Given the description of an element on the screen output the (x, y) to click on. 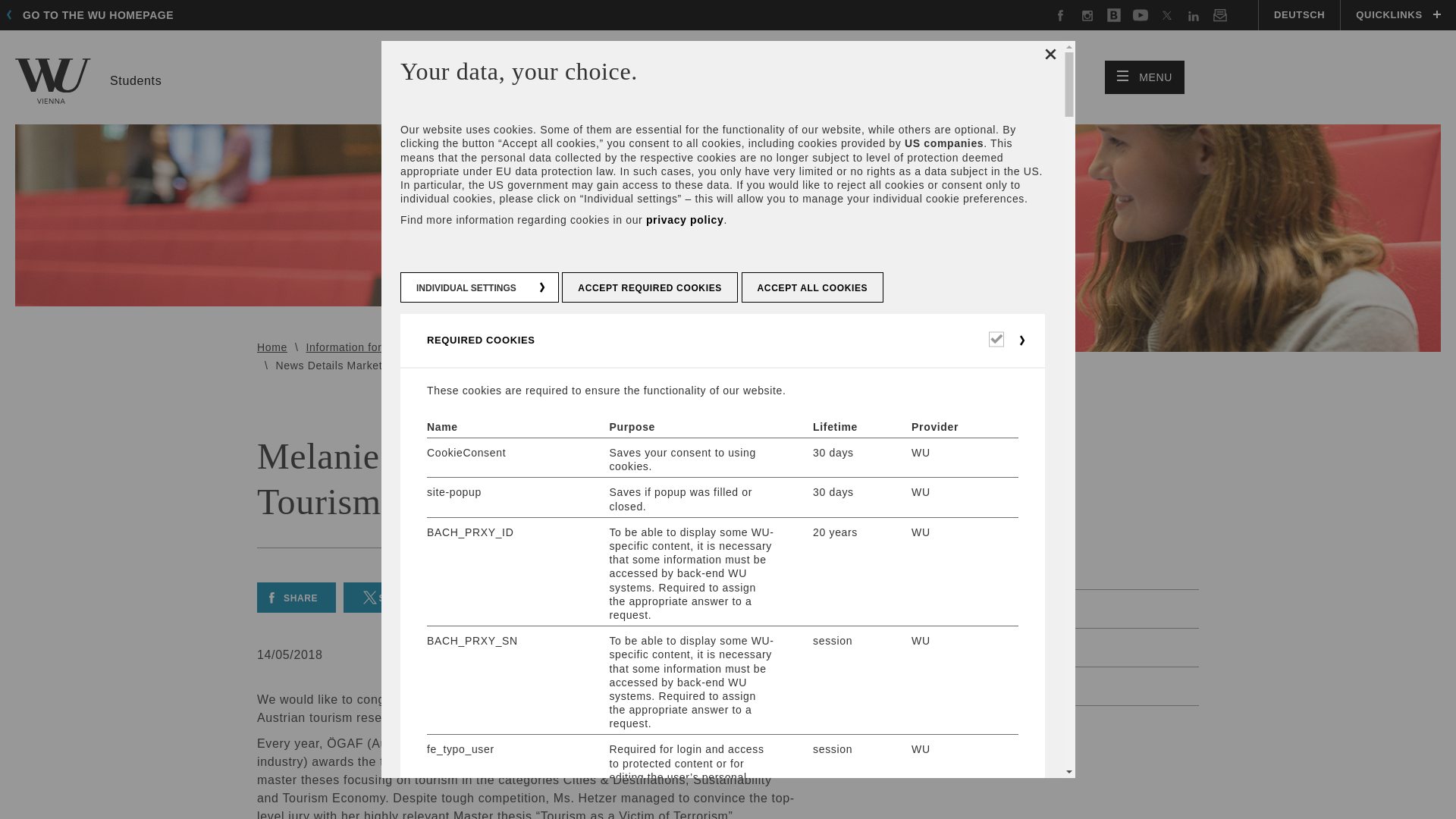
Students (87, 81)
GO TO THE WU HOMEPAGE (1145, 77)
on (94, 15)
